Given the description of an element on the screen output the (x, y) to click on. 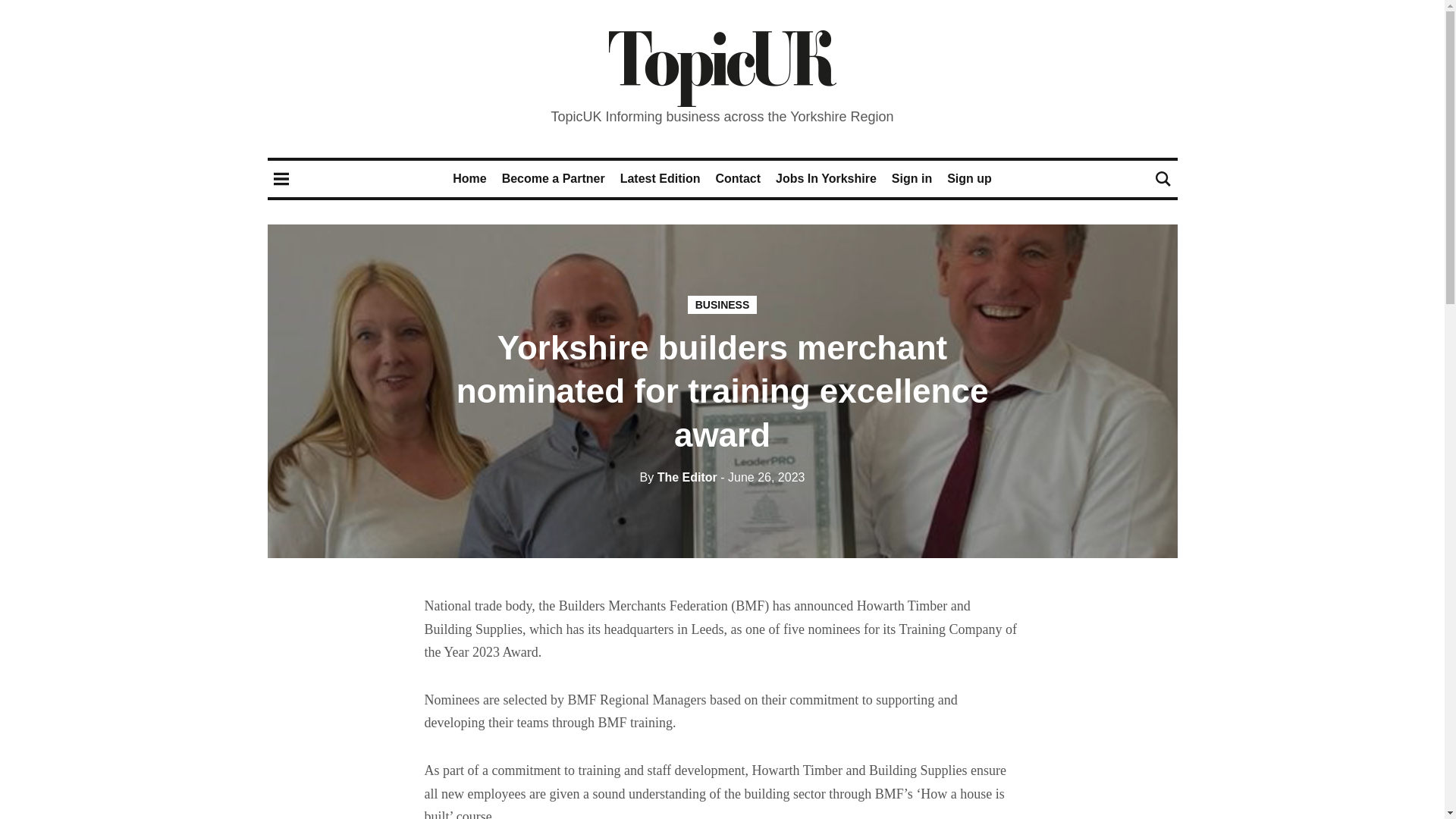
Home (469, 178)
Sign in (911, 178)
Become a Partner (553, 178)
Contact (737, 178)
Latest Edition (660, 178)
Jobs In Yorkshire (826, 178)
BUSINESS (722, 304)
By The Editor (678, 477)
26 June, 2023 (762, 477)
Sign up (969, 178)
